Given the description of an element on the screen output the (x, y) to click on. 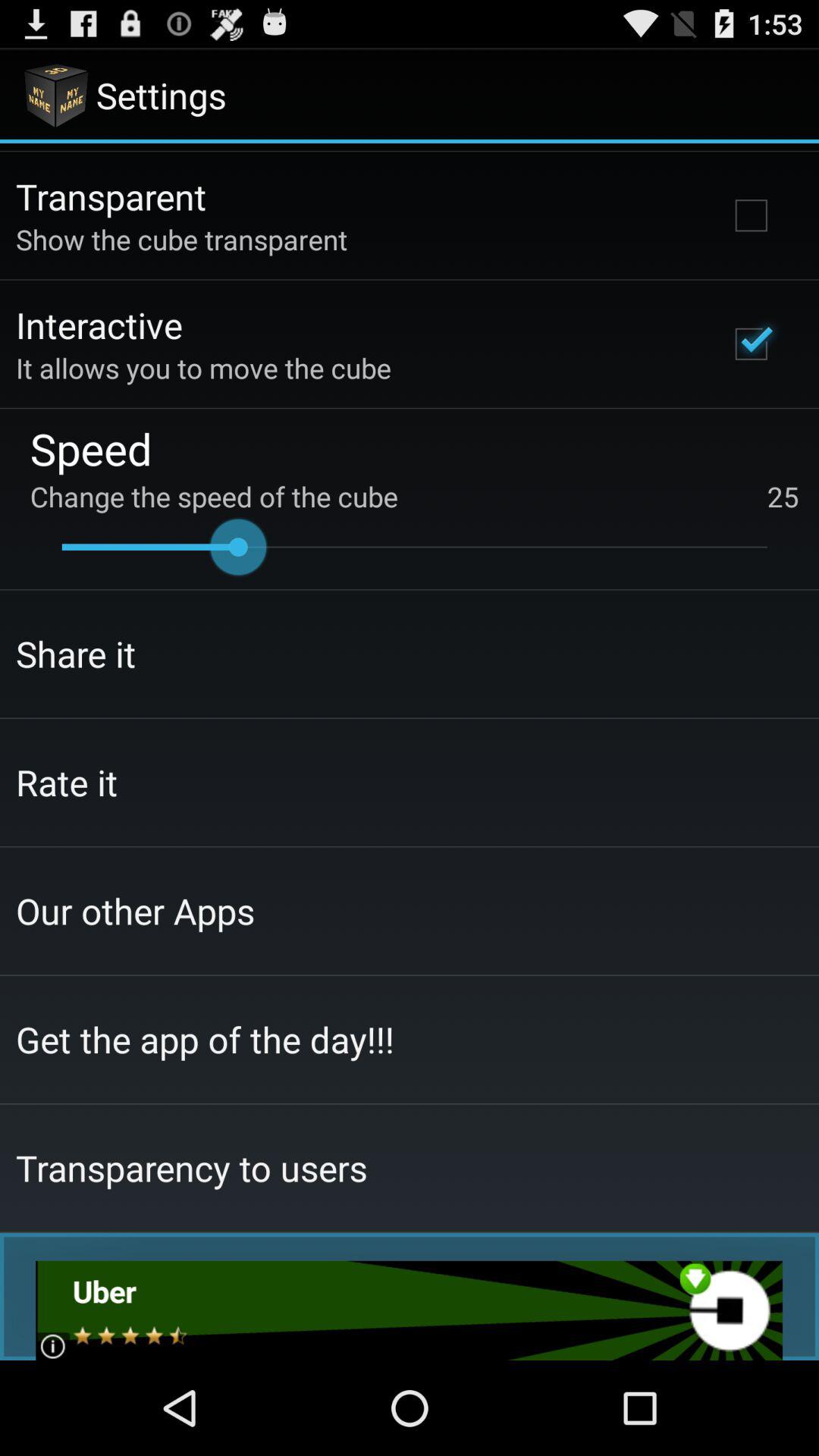
click item below the speed icon (414, 496)
